Given the description of an element on the screen output the (x, y) to click on. 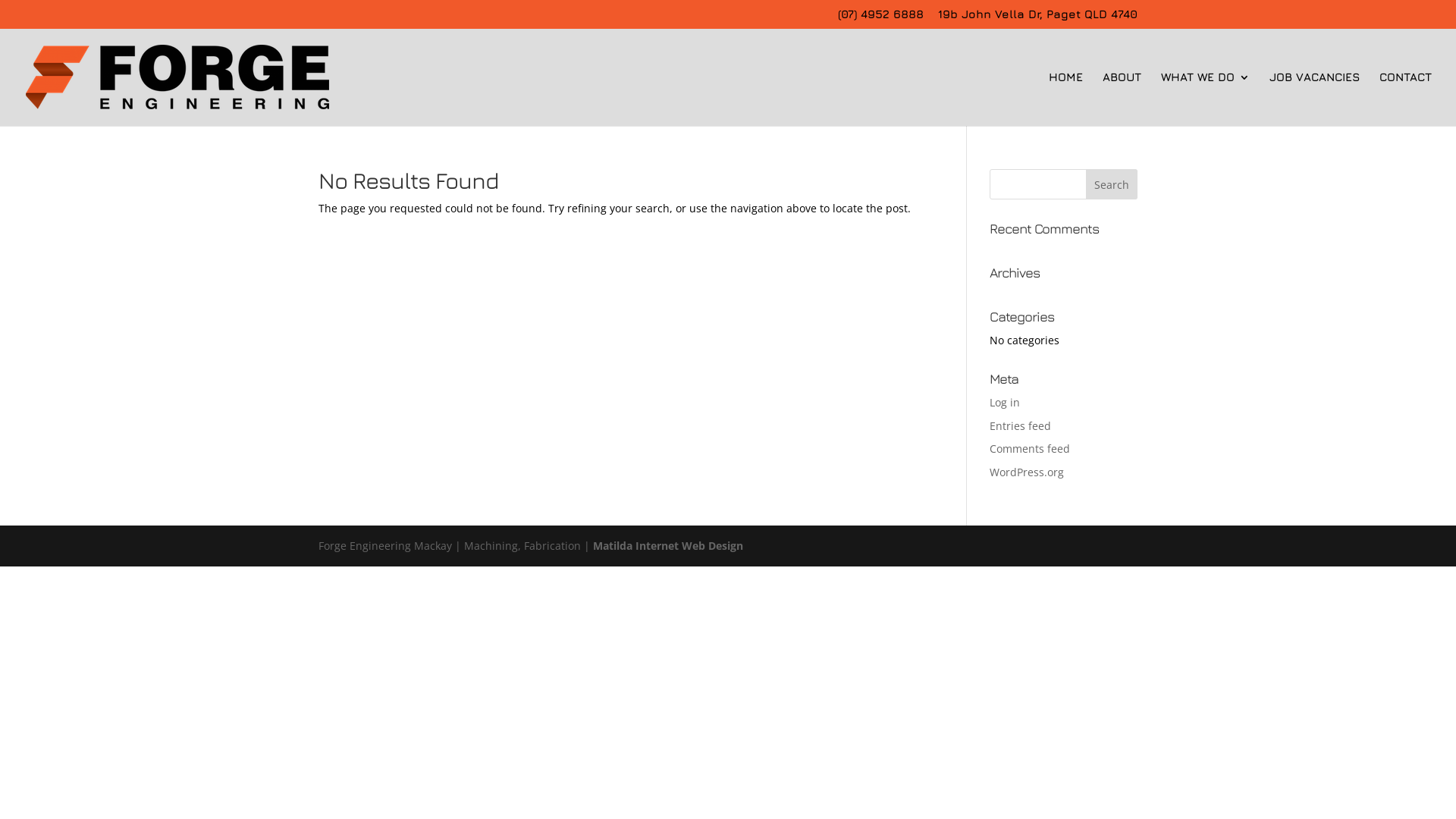
Search Element type: text (1111, 184)
19b John Vella Dr, Paget QLD 4740 Element type: text (1037, 18)
CONTACT Element type: text (1405, 98)
HOME Element type: text (1065, 98)
WordPress.org Element type: text (1026, 471)
WHAT WE DO Element type: text (1205, 98)
Comments feed Element type: text (1029, 448)
Matilda Internet Web Design Element type: text (668, 545)
JOB VACANCIES Element type: text (1314, 98)
(07) 4952 6888 Element type: text (880, 18)
Log in Element type: text (1004, 402)
Entries feed Element type: text (1020, 425)
ABOUT Element type: text (1121, 98)
